Given the description of an element on the screen output the (x, y) to click on. 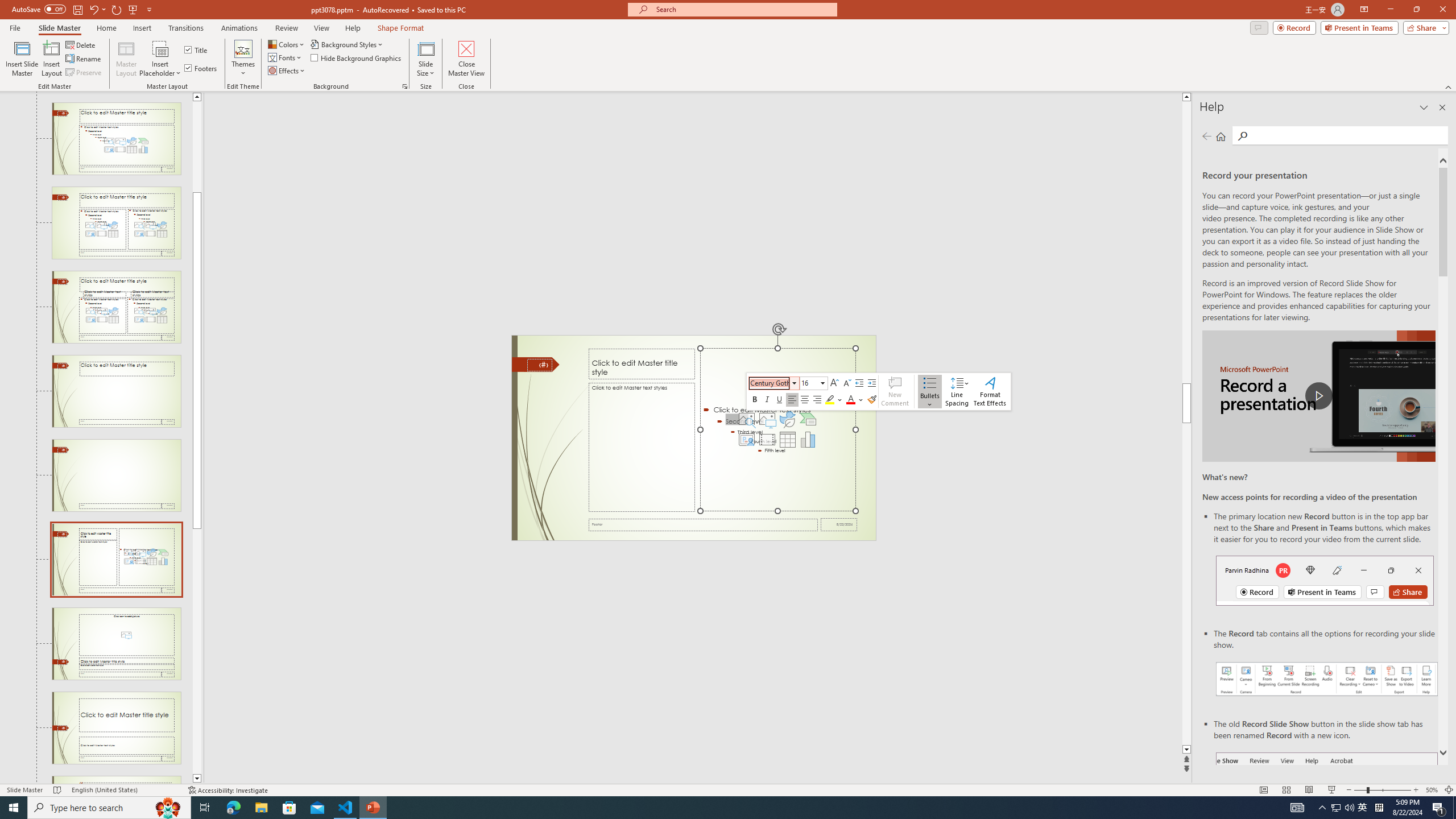
Background Styles (347, 44)
Rename (84, 58)
Title (196, 49)
